Given the description of an element on the screen output the (x, y) to click on. 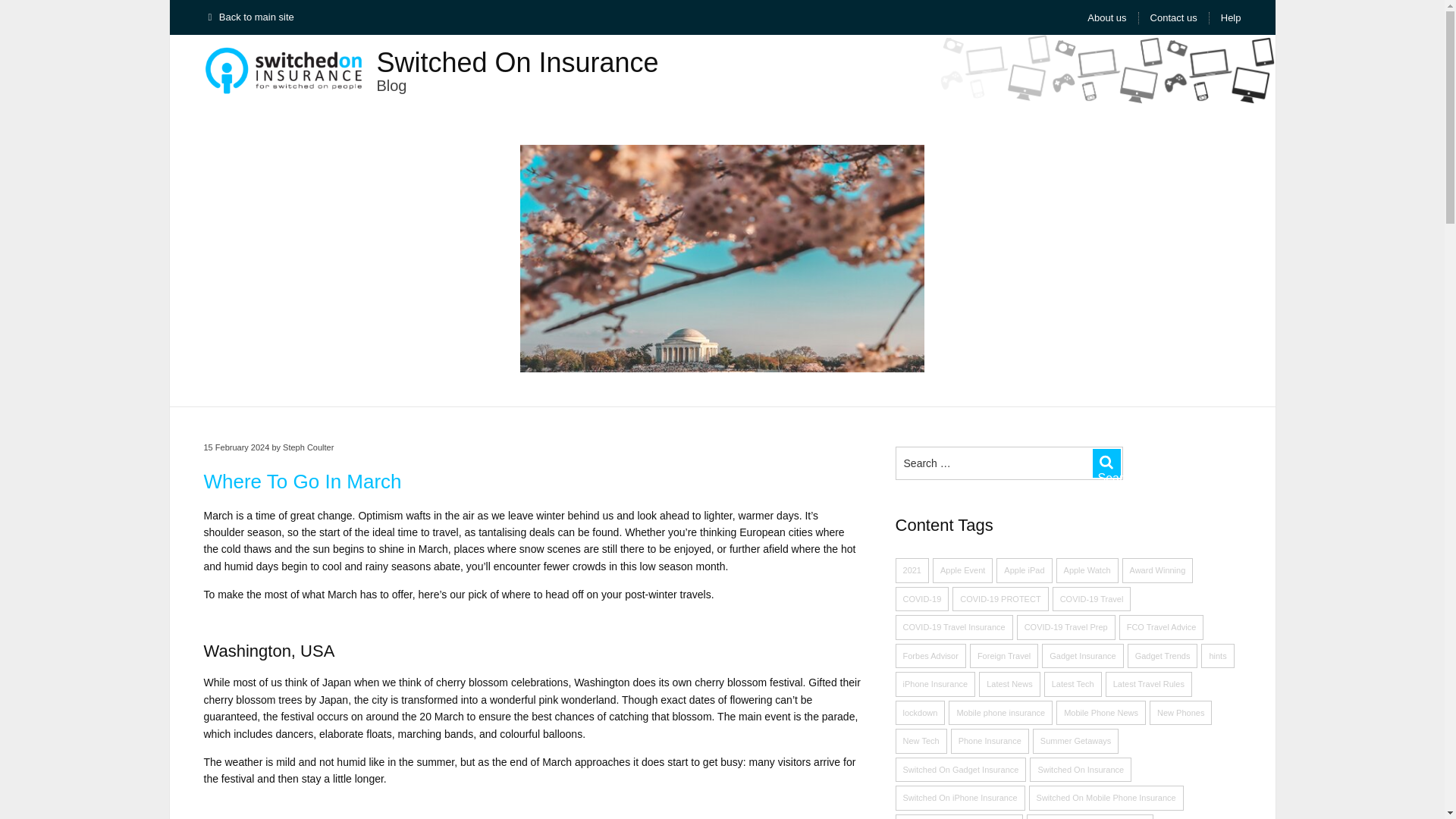
Switched On Insurance (516, 61)
lockdown (919, 713)
hints (1217, 656)
COVID-19 Travel Insurance (954, 627)
Search (1107, 462)
Foreign Travel (1003, 656)
New Phones (1180, 713)
COVID-19 Travel (1091, 599)
Contact us (1173, 17)
COVID-19 PROTECT (1000, 599)
About us (1106, 17)
New Tech (921, 740)
Help (1231, 17)
2021 (911, 570)
